Given the description of an element on the screen output the (x, y) to click on. 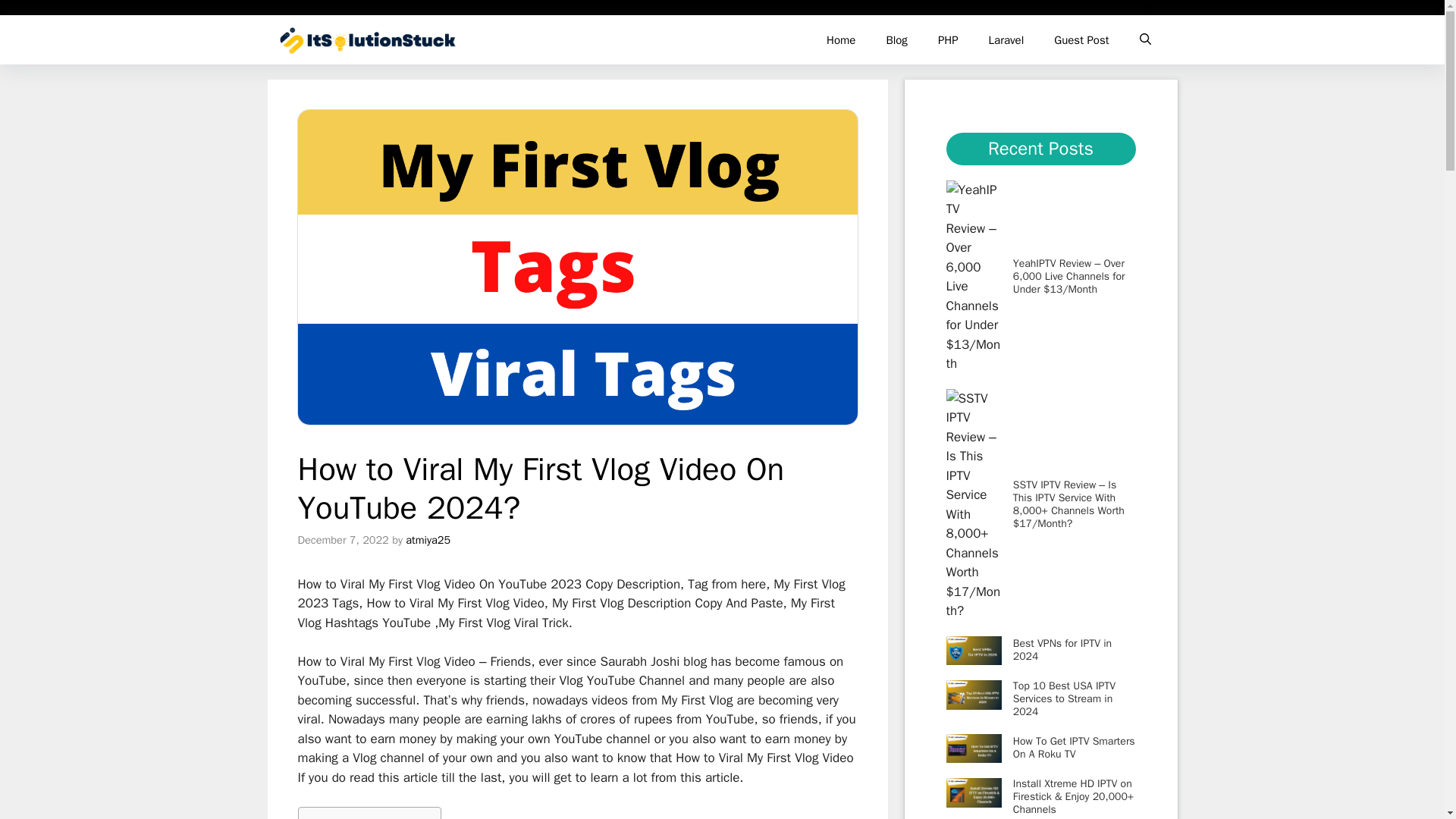
View all posts by atmiya25 (427, 540)
PHP (948, 39)
Itsolutionstuck (368, 39)
Guest Post (1081, 39)
Home (840, 39)
Blog (895, 39)
Top 10 Best USA IPTV Services to Stream in 2024 (1064, 698)
Itsolutionstuck (524, 39)
Best VPNs for IPTV in 2024 (1062, 649)
atmiya25 (427, 540)
Laravel (1006, 39)
